Given the description of an element on the screen output the (x, y) to click on. 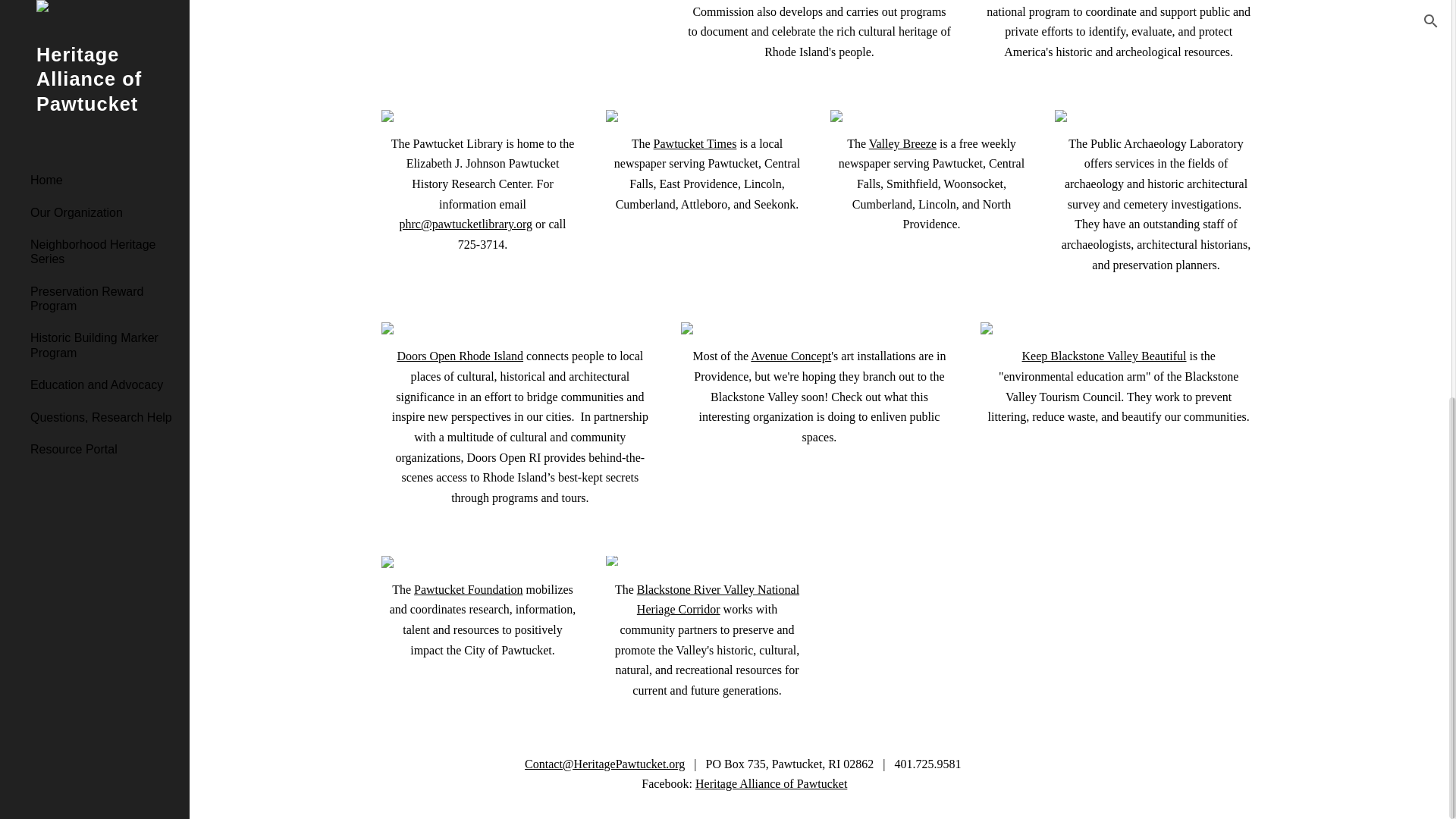
Pawtucket Times (694, 143)
Doors Open Rhode Island (459, 355)
Valley Breeze (902, 143)
Pawtucket Foundation (467, 589)
Heritage Alliance of Pawtucket (771, 783)
Avenue Concept (791, 355)
Blackstone River Valley National Heriage Corridor (718, 599)
Keep Blackstone Valley Beautiful (1104, 355)
